Given the description of an element on the screen output the (x, y) to click on. 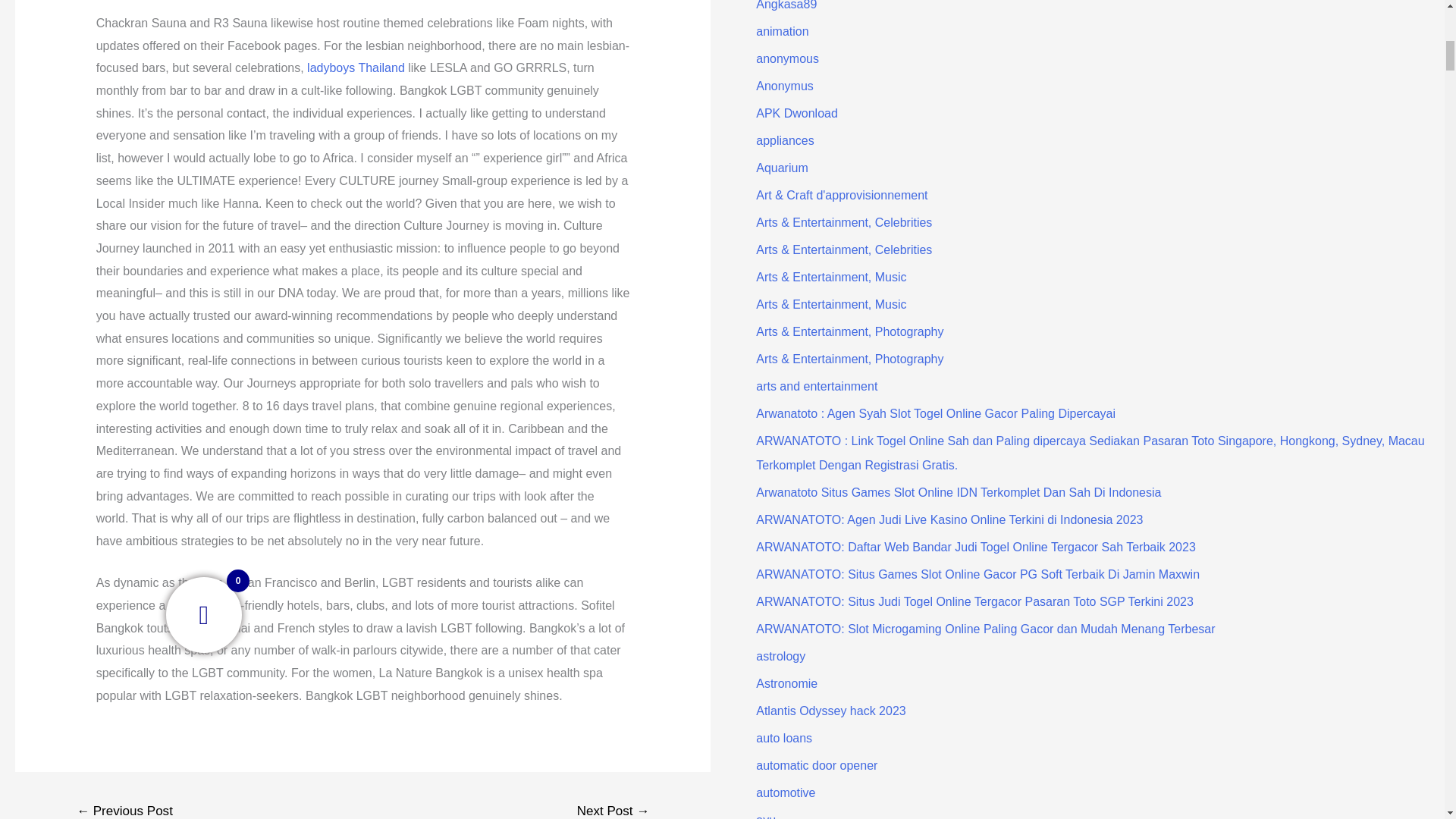
ladyboys Thailand (355, 67)
